Given the description of an element on the screen output the (x, y) to click on. 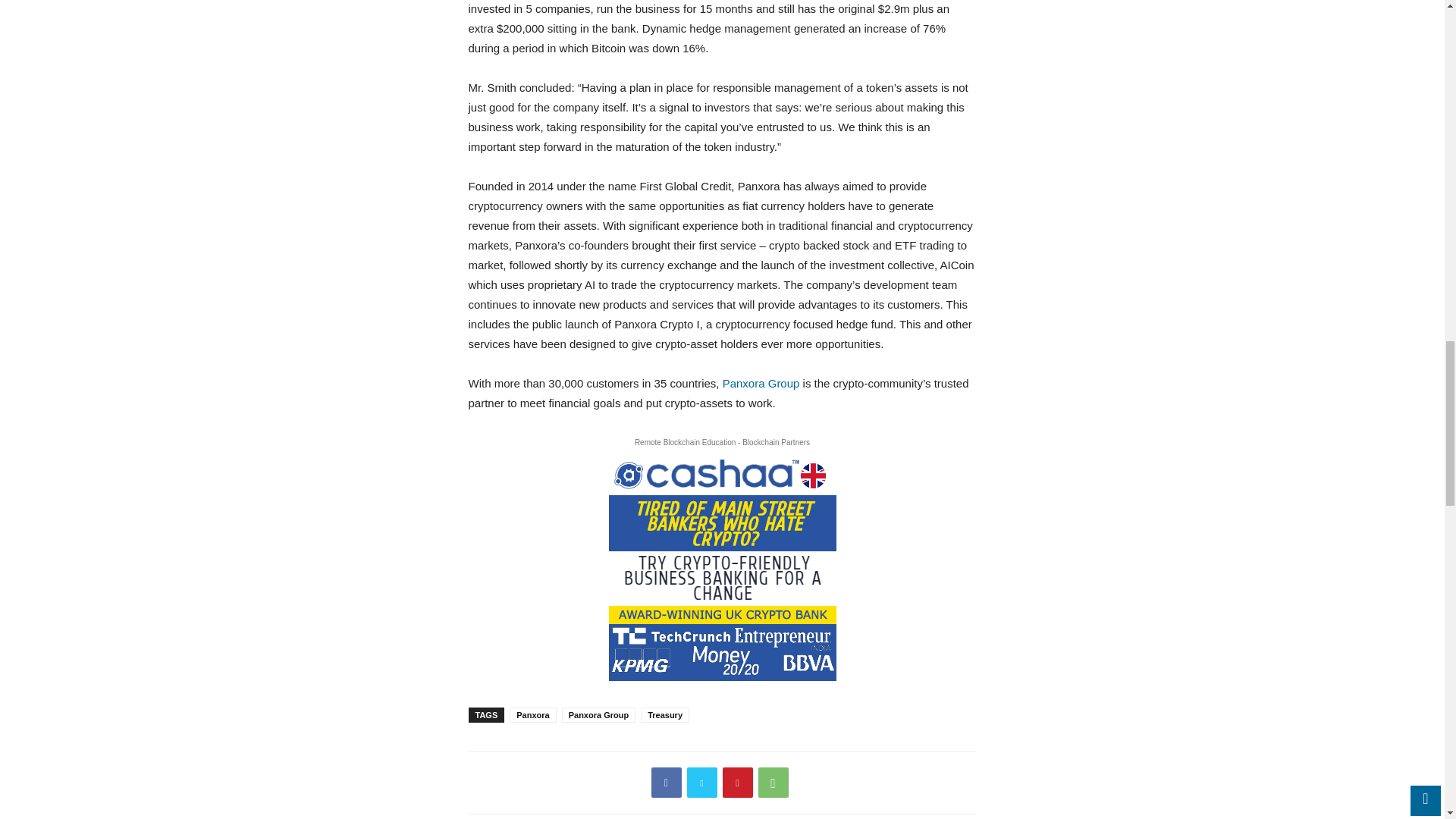
Twitter (702, 782)
Pinterest (737, 782)
Treasury (664, 713)
Facebook (665, 782)
Panxora Group (760, 382)
Panxora (532, 713)
Panxora Group (598, 713)
WhatsApp (773, 782)
